Given the description of an element on the screen output the (x, y) to click on. 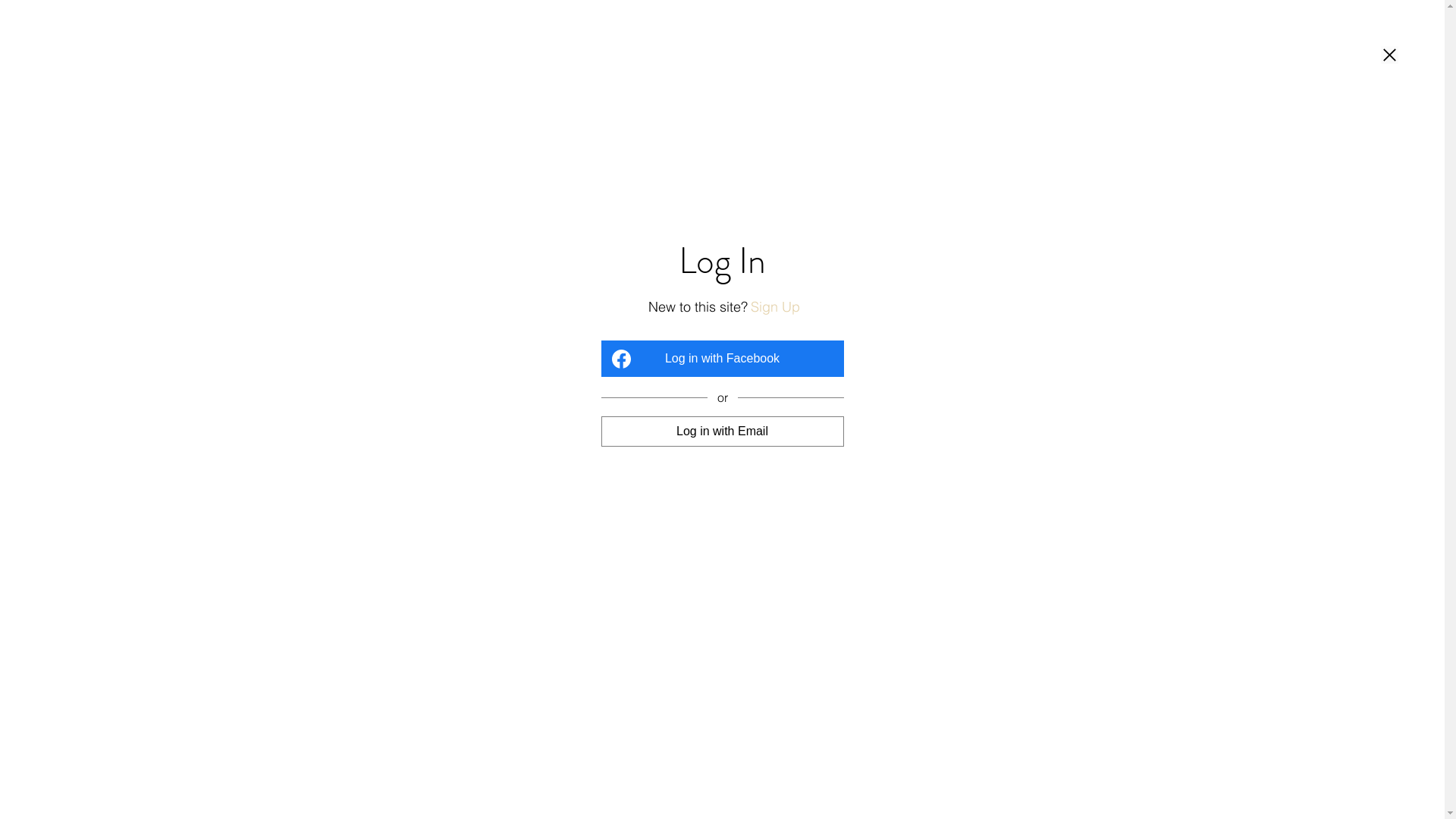
Log in with Facebook Element type: text (721, 358)
Log in with Email Element type: text (721, 431)
Sign Up Element type: text (775, 306)
